Given the description of an element on the screen output the (x, y) to click on. 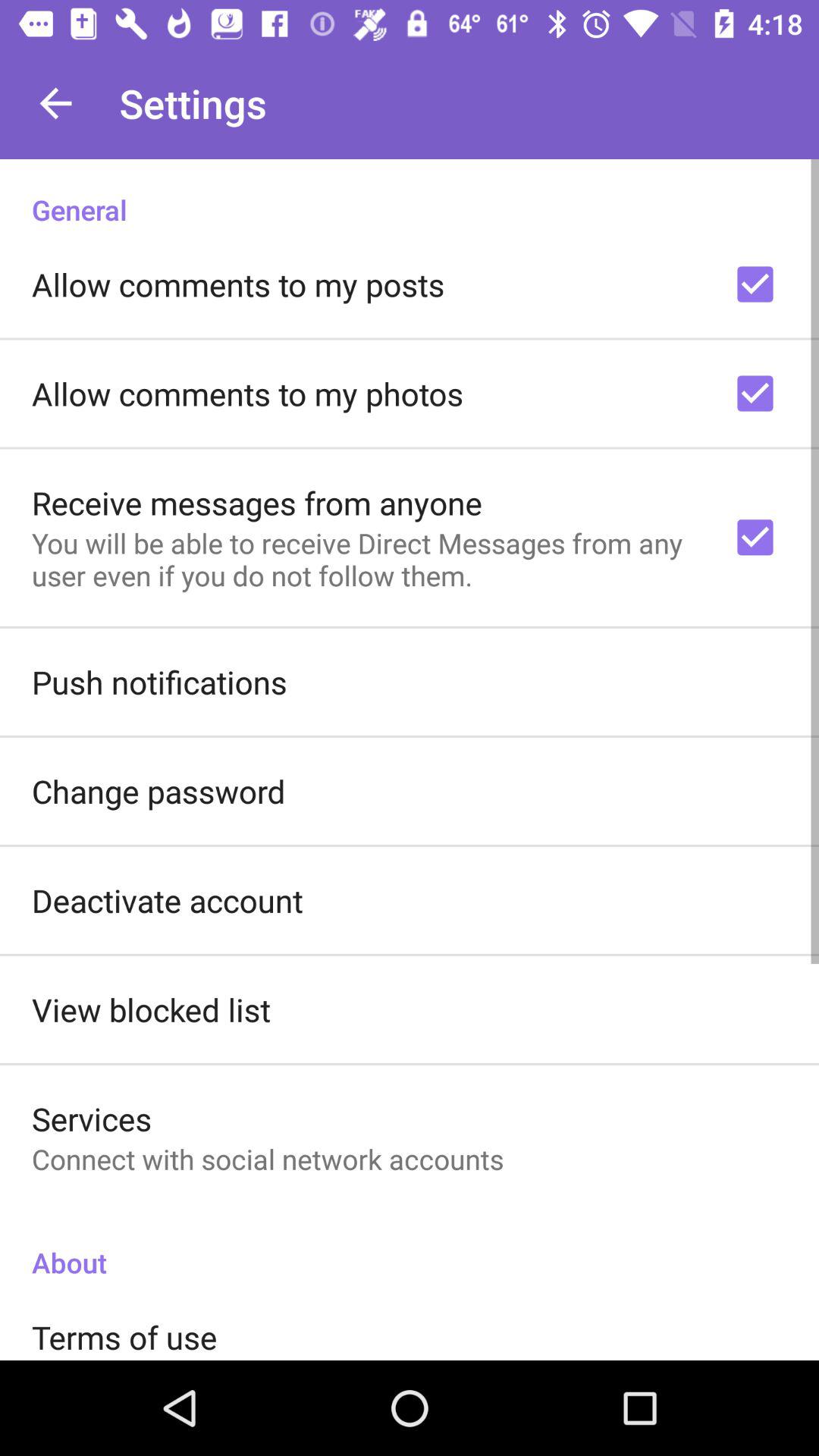
swipe until you will be icon (361, 559)
